Given the description of an element on the screen output the (x, y) to click on. 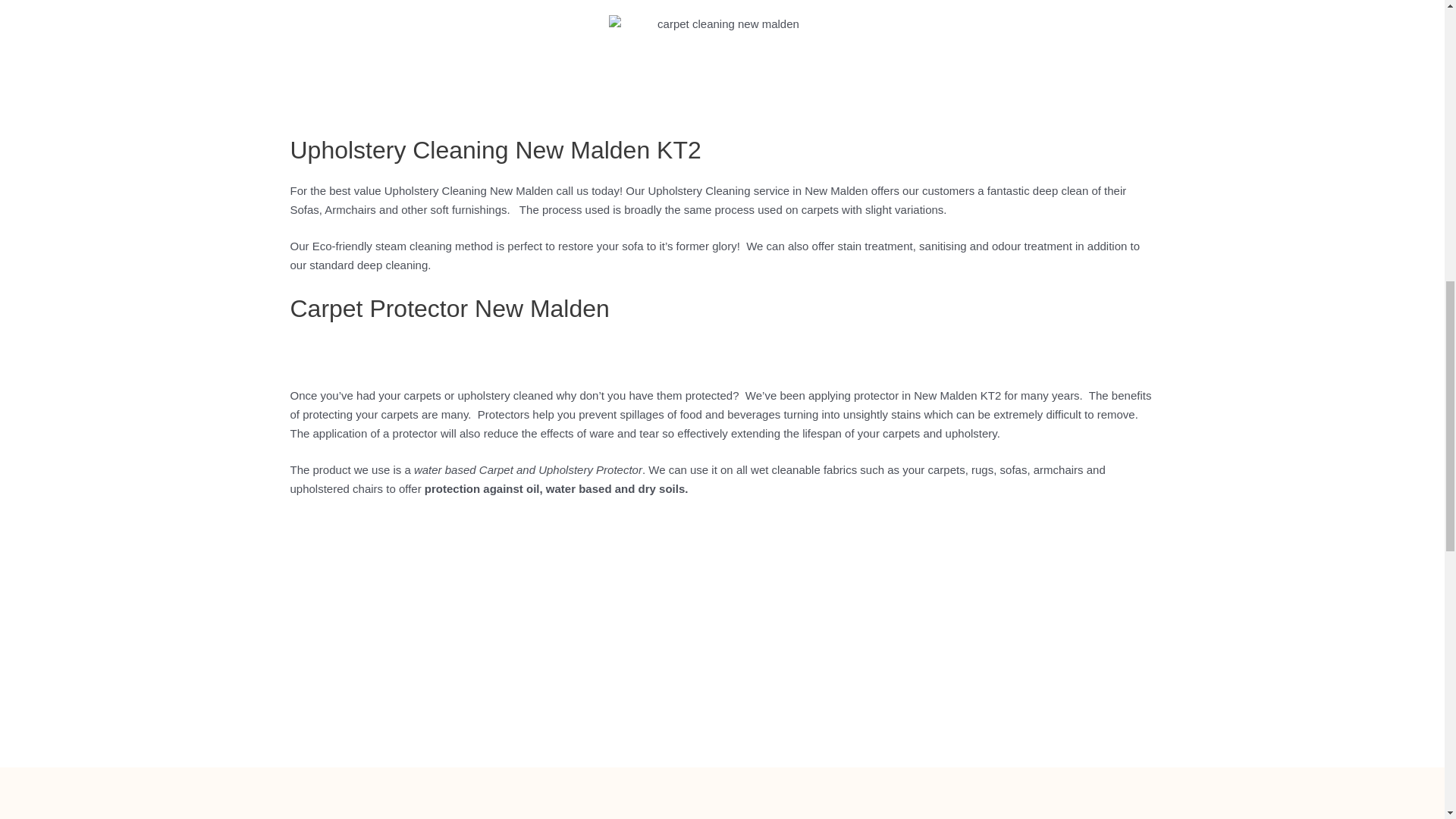
Carpet Cleaning New Malden KT2 1 (721, 67)
